Given the description of an element on the screen output the (x, y) to click on. 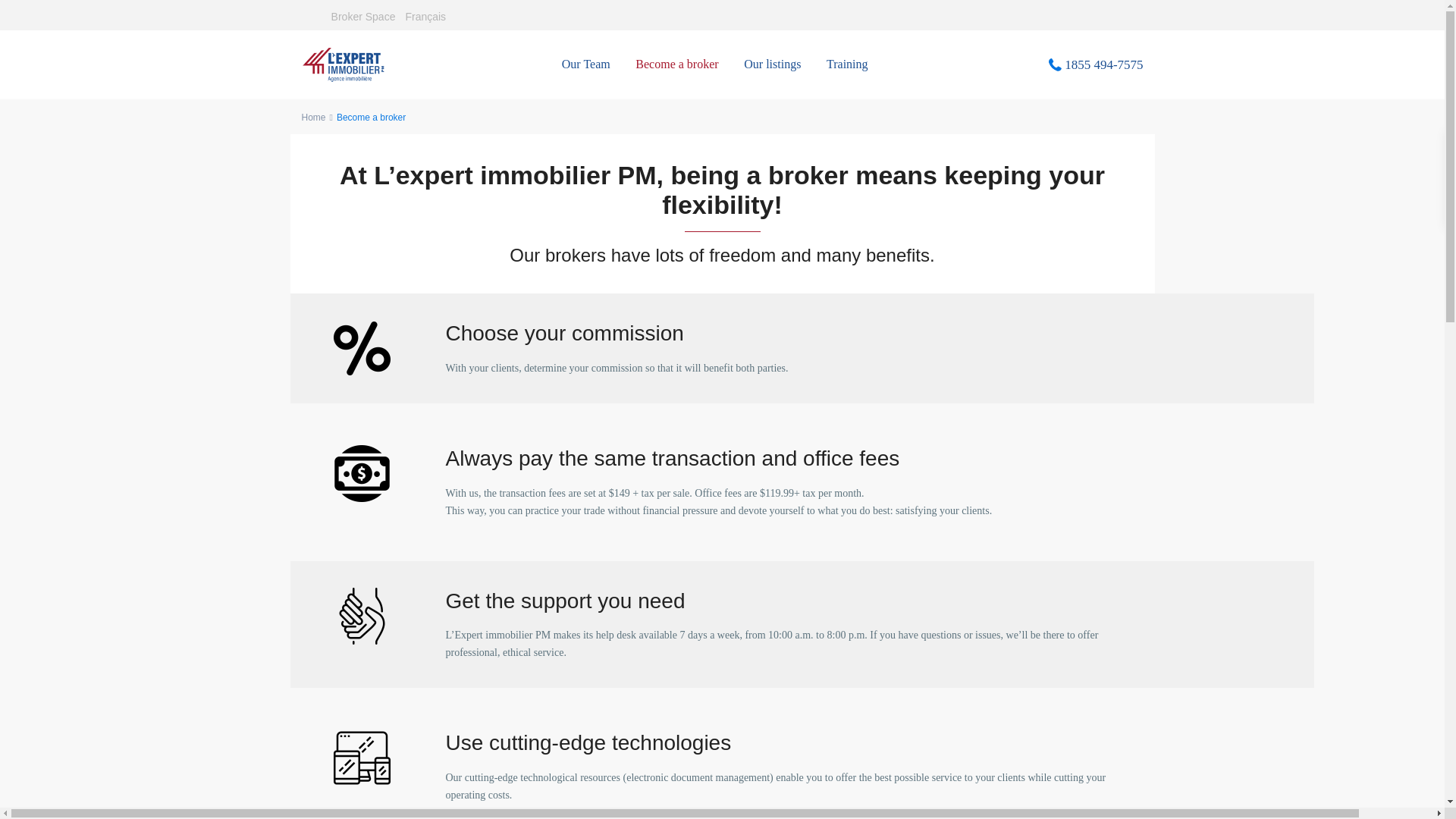
Training (847, 64)
percent-75x75 (361, 348)
Our Team (585, 64)
Broker Space (363, 16)
responsive-75x75 (361, 757)
Our listings (772, 64)
money-75x75 (361, 473)
charity-75x75 (361, 616)
Become a broker (676, 64)
Home (313, 117)
1855 494-7575 (1103, 64)
